Given the description of an element on the screen output the (x, y) to click on. 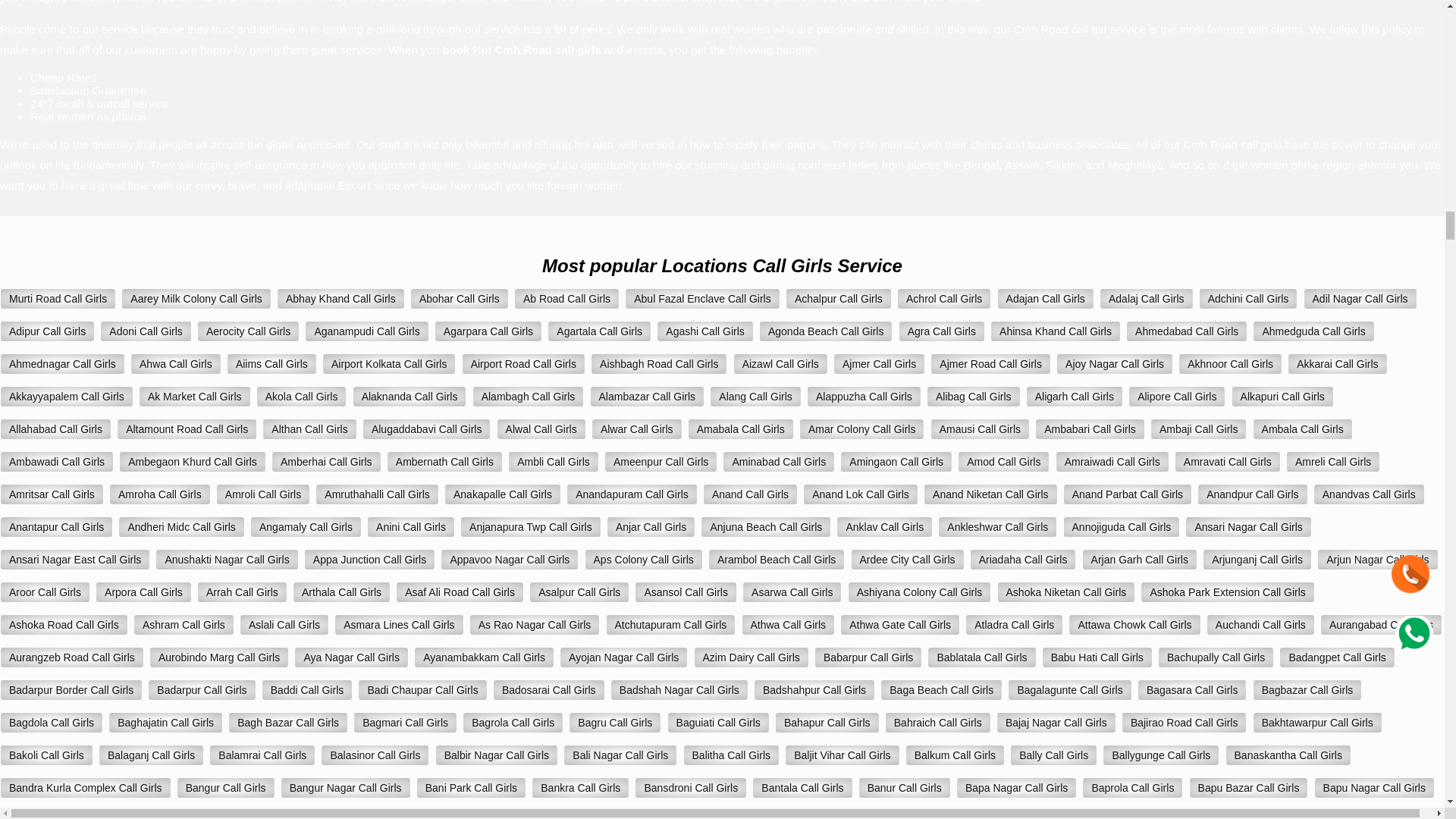
Achalpur Call Girls (838, 298)
Murti Road Call Girls (58, 298)
Adajan Call Girls (1045, 298)
Adoni Call Girls (145, 331)
Achrol Call Girls (943, 298)
Adil Nagar Call Girls (1359, 298)
Aarey Milk Colony Call Girls (195, 298)
Abhay Khand Call Girls (340, 298)
Adipur Call Girls (47, 331)
Adchini Call Girls (1248, 298)
Aerocity Call Girls (247, 331)
Ab Road Call Girls (566, 298)
Abul Fazal Enclave Call Girls (702, 298)
Aganampudi Call Girls (366, 331)
Abohar Call Girls (459, 298)
